Given the description of an element on the screen output the (x, y) to click on. 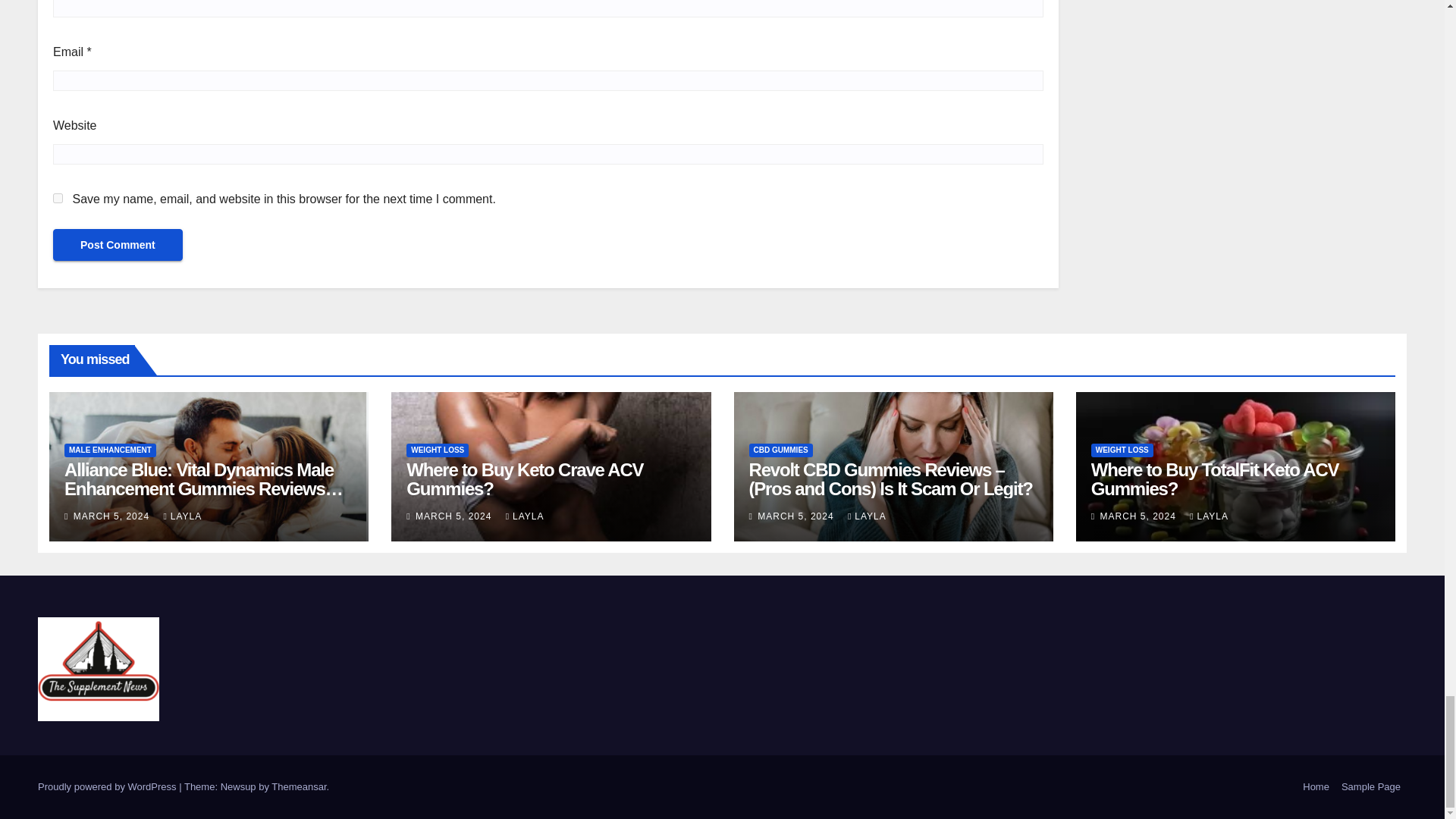
Permalink to: Where to Buy Keto Crave ACV Gummies? (524, 478)
Permalink to: Where to Buy TotalFit Keto ACV Gummies? (1214, 478)
Home (1316, 786)
Post Comment (117, 245)
yes (57, 198)
